Given the description of an element on the screen output the (x, y) to click on. 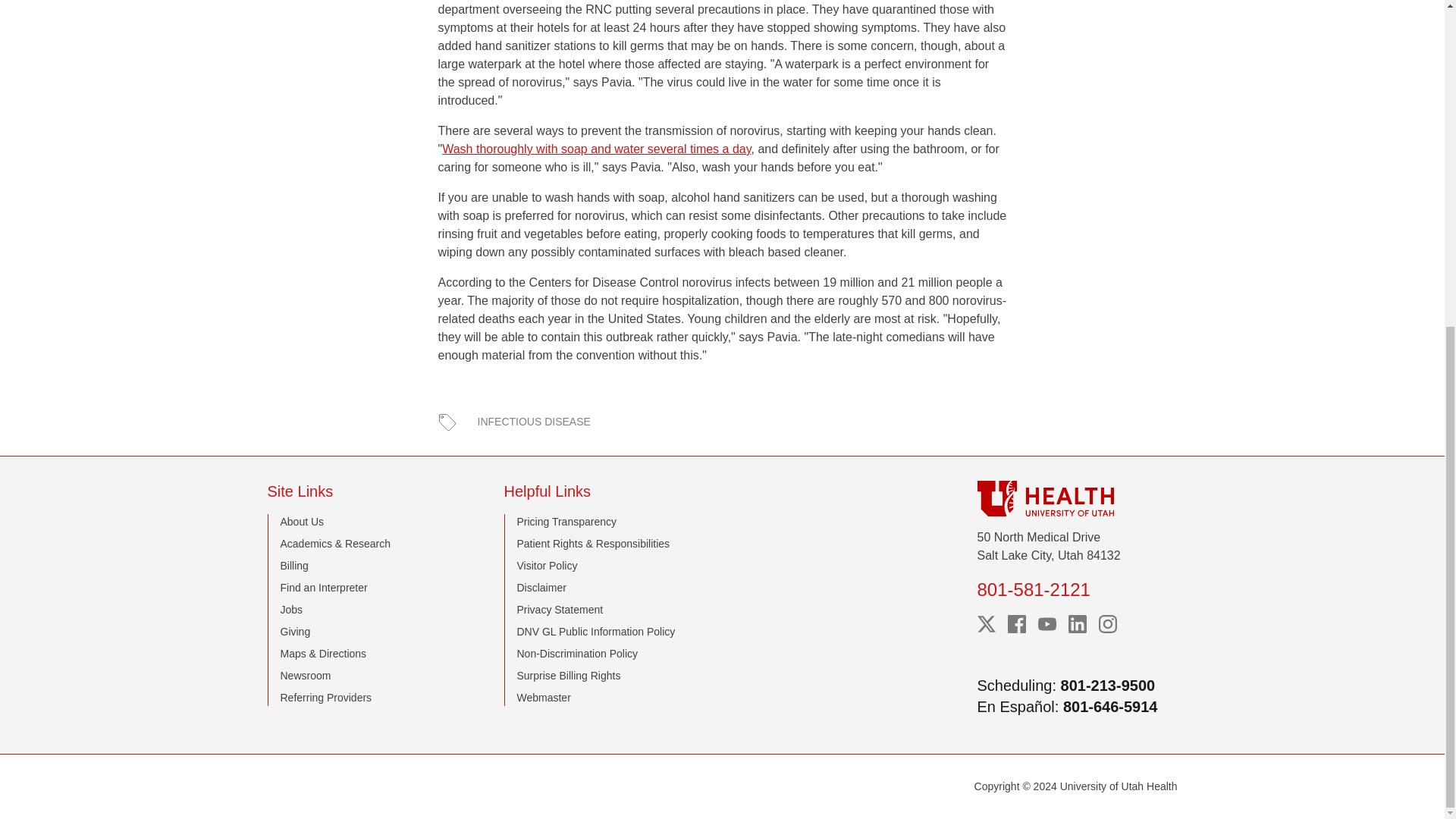
Wash thoroughly with soap and water several times a day (596, 148)
INFECTIOUS DISEASE (534, 421)
University of Utah Healthcare (1076, 498)
About Us (302, 521)
